Given the description of an element on the screen output the (x, y) to click on. 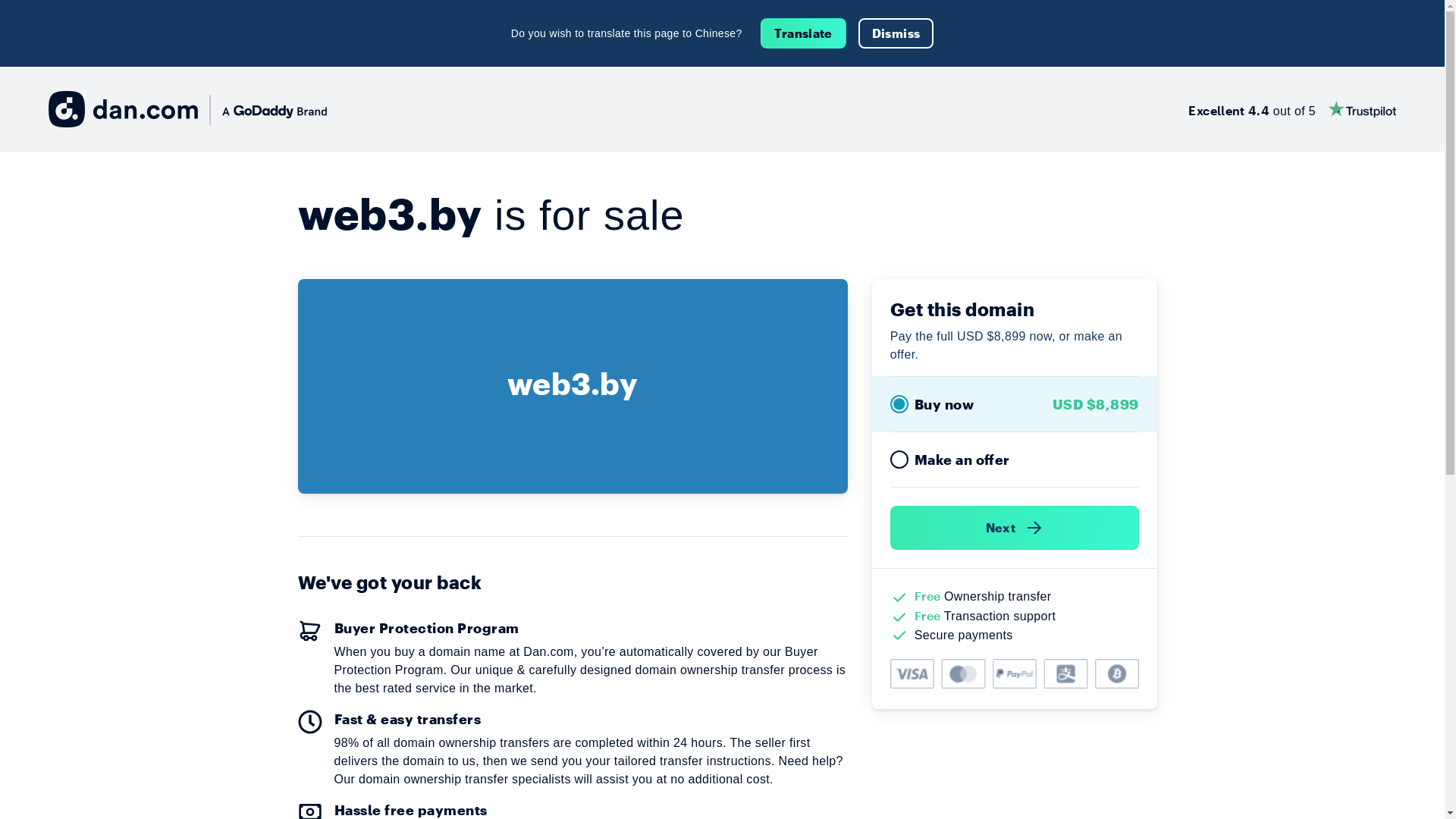
Dismiss Element type: text (895, 33)
Next
) Element type: text (1014, 527)
Translate Element type: text (803, 33)
Excellent 4.4 out of 5 Element type: text (1292, 109)
